Given the description of an element on the screen output the (x, y) to click on. 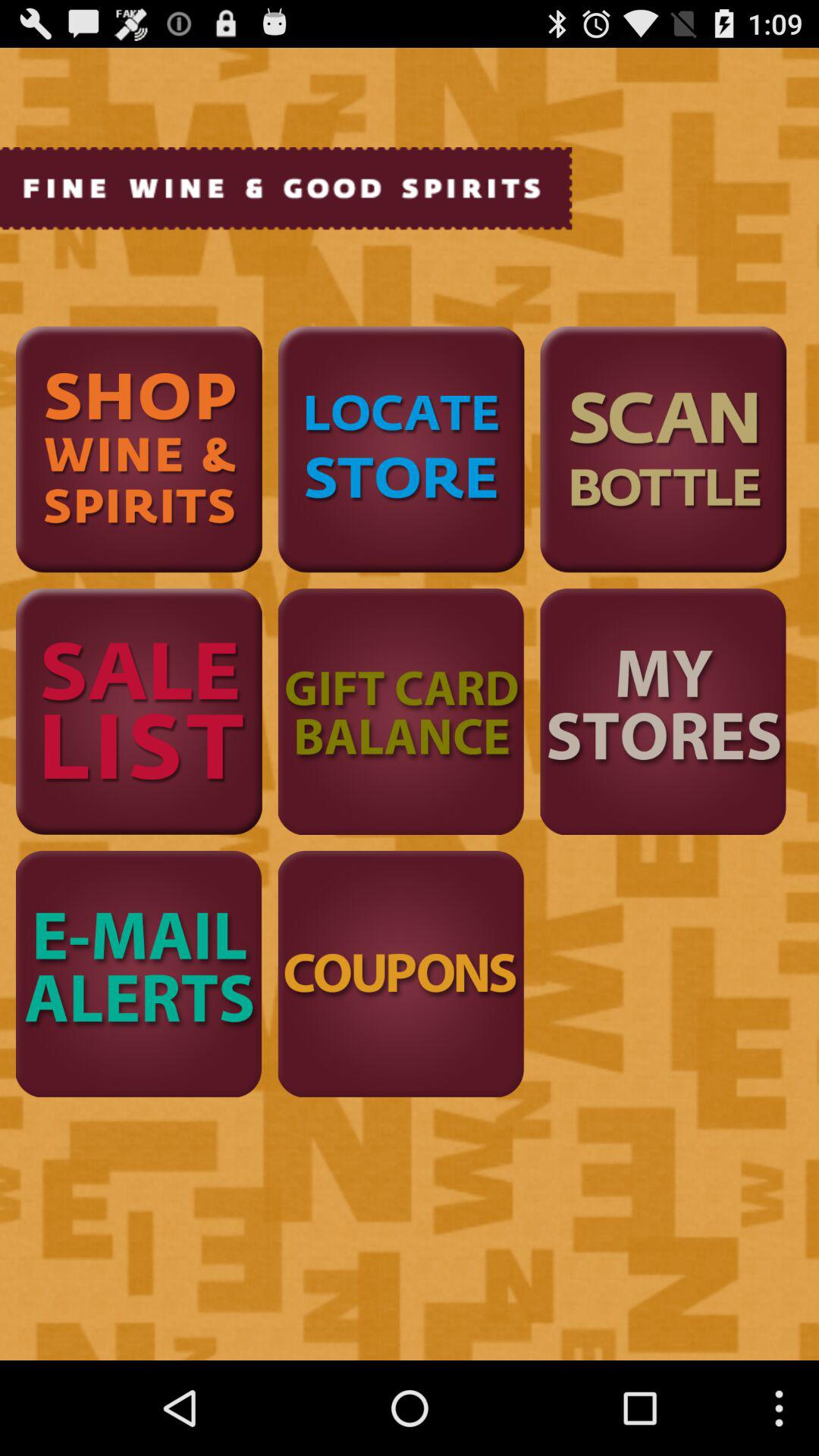
click the locate store option (401, 449)
